Given the description of an element on the screen output the (x, y) to click on. 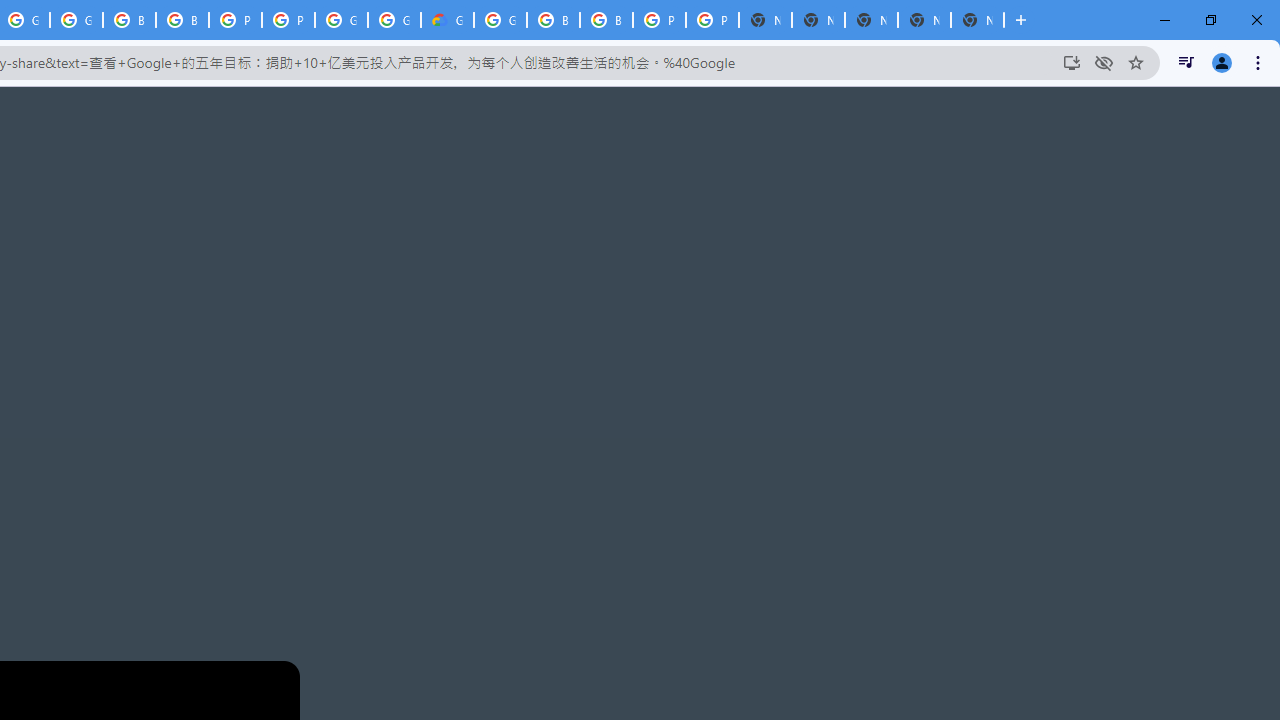
Google Cloud Platform (500, 20)
Google Cloud Platform (341, 20)
Browse Chrome as a guest - Computer - Google Chrome Help (606, 20)
Browse Chrome as a guest - Computer - Google Chrome Help (553, 20)
Browse Chrome as a guest - Computer - Google Chrome Help (129, 20)
New Tab (977, 20)
Control your music, videos, and more (1185, 62)
Google Cloud Platform (394, 20)
Google Cloud Estimate Summary (447, 20)
